Given the description of an element on the screen output the (x, y) to click on. 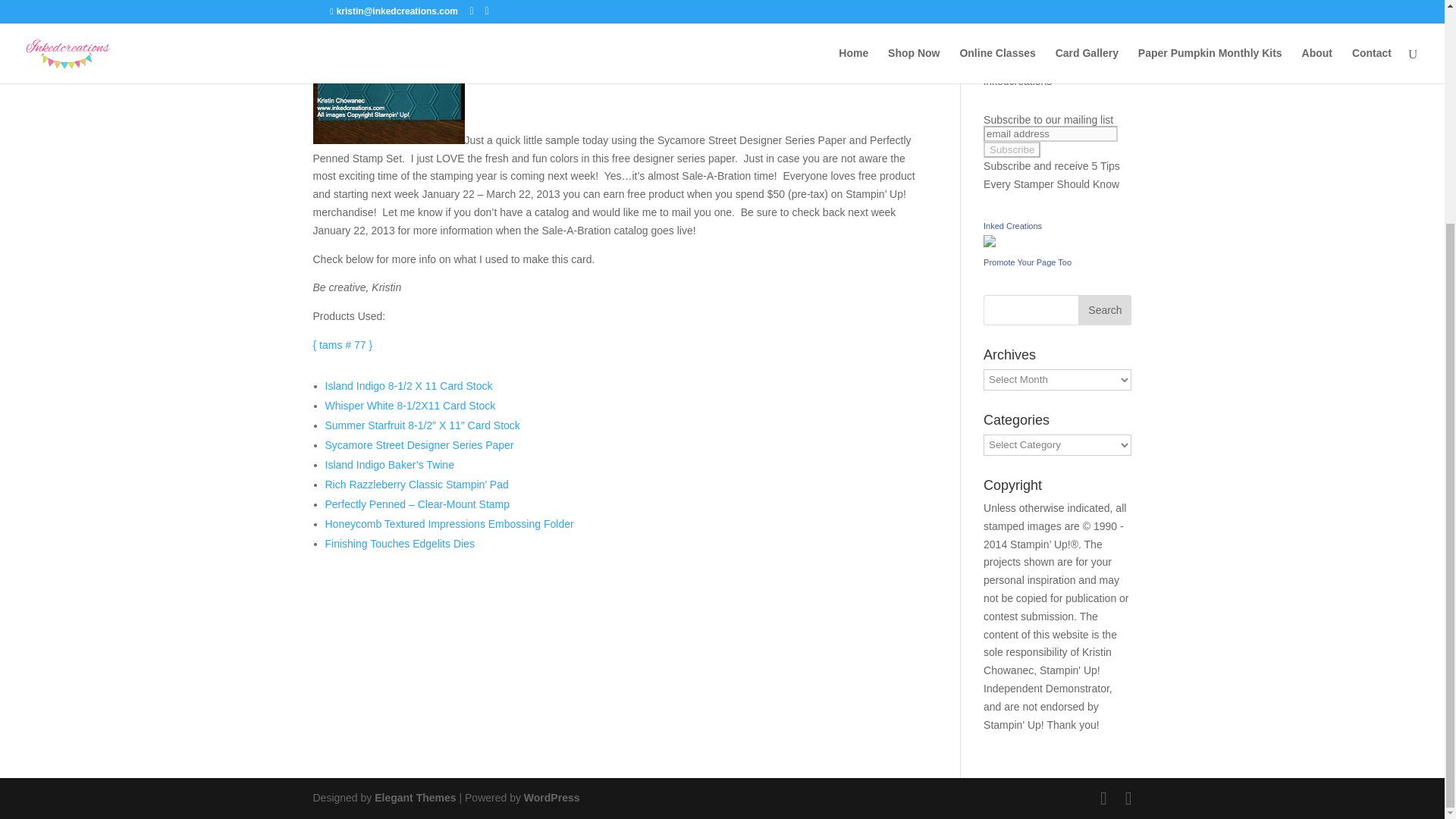
Make your own badge! (1027, 261)
Premium WordPress Themes (414, 797)
Promote Your Page Too (1027, 261)
WordPress (551, 797)
inkedcreations (1017, 80)
Subscribe (1012, 149)
Search (1104, 309)
Subscribe (1012, 149)
Inked Creations (1013, 225)
Sycamore Street Designer Series Paper (418, 444)
Elegant Themes (414, 797)
Inked Creations (1013, 225)
Honeycomb Textured Impressions Embossing Folder (448, 523)
Finishing Touches Edgelits Dies (399, 543)
Search (1104, 309)
